Given the description of an element on the screen output the (x, y) to click on. 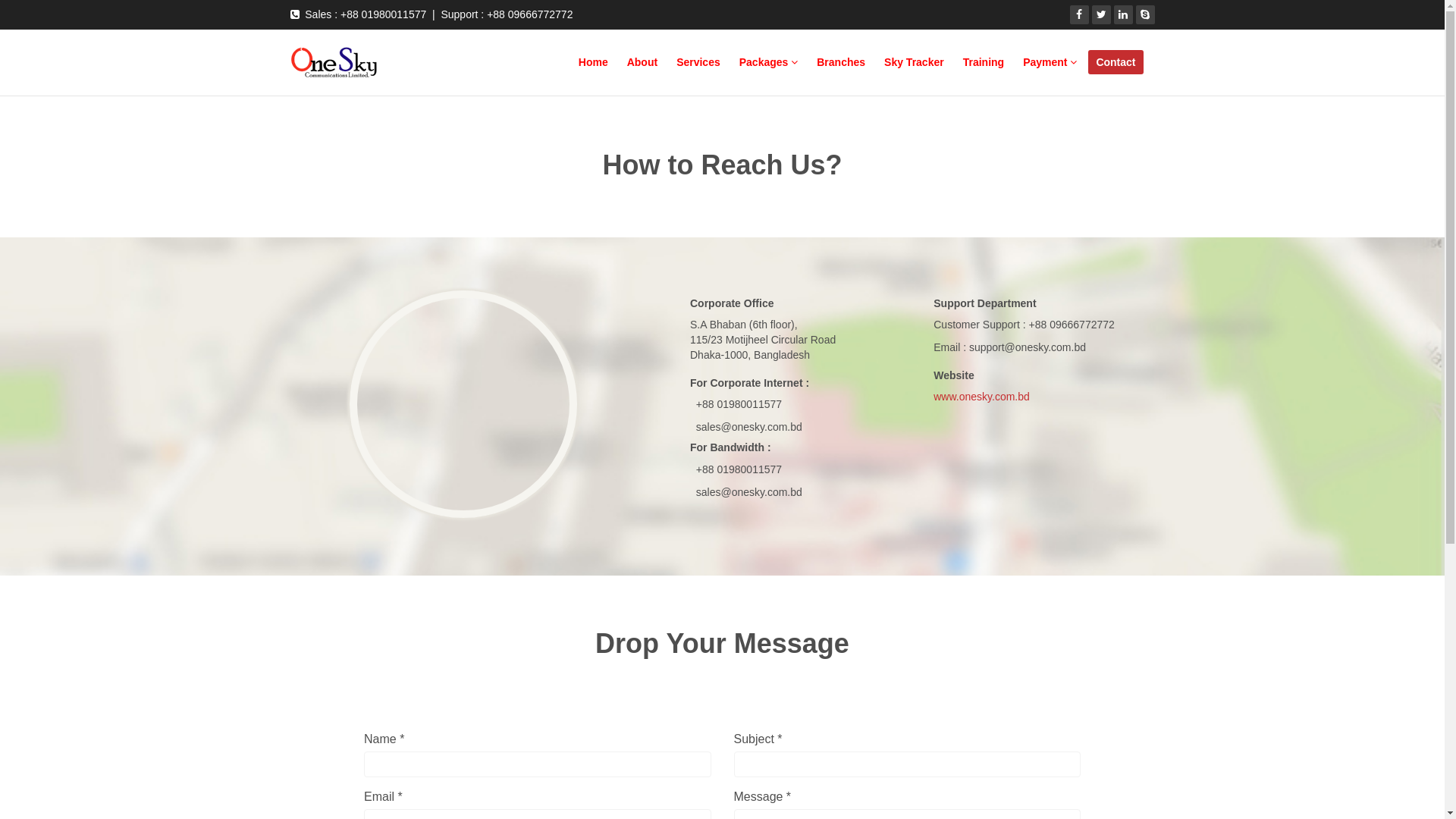
www.onesky.com.bd Element type: text (981, 396)
Packages Element type: text (768, 62)
Branches Element type: text (840, 62)
Services Element type: text (698, 62)
About Element type: text (642, 62)
Payment Element type: text (1049, 62)
Contact Element type: text (1115, 62)
Sky Tracker Element type: text (913, 62)
Home Element type: text (593, 62)
Training Element type: text (983, 62)
